Given the description of an element on the screen output the (x, y) to click on. 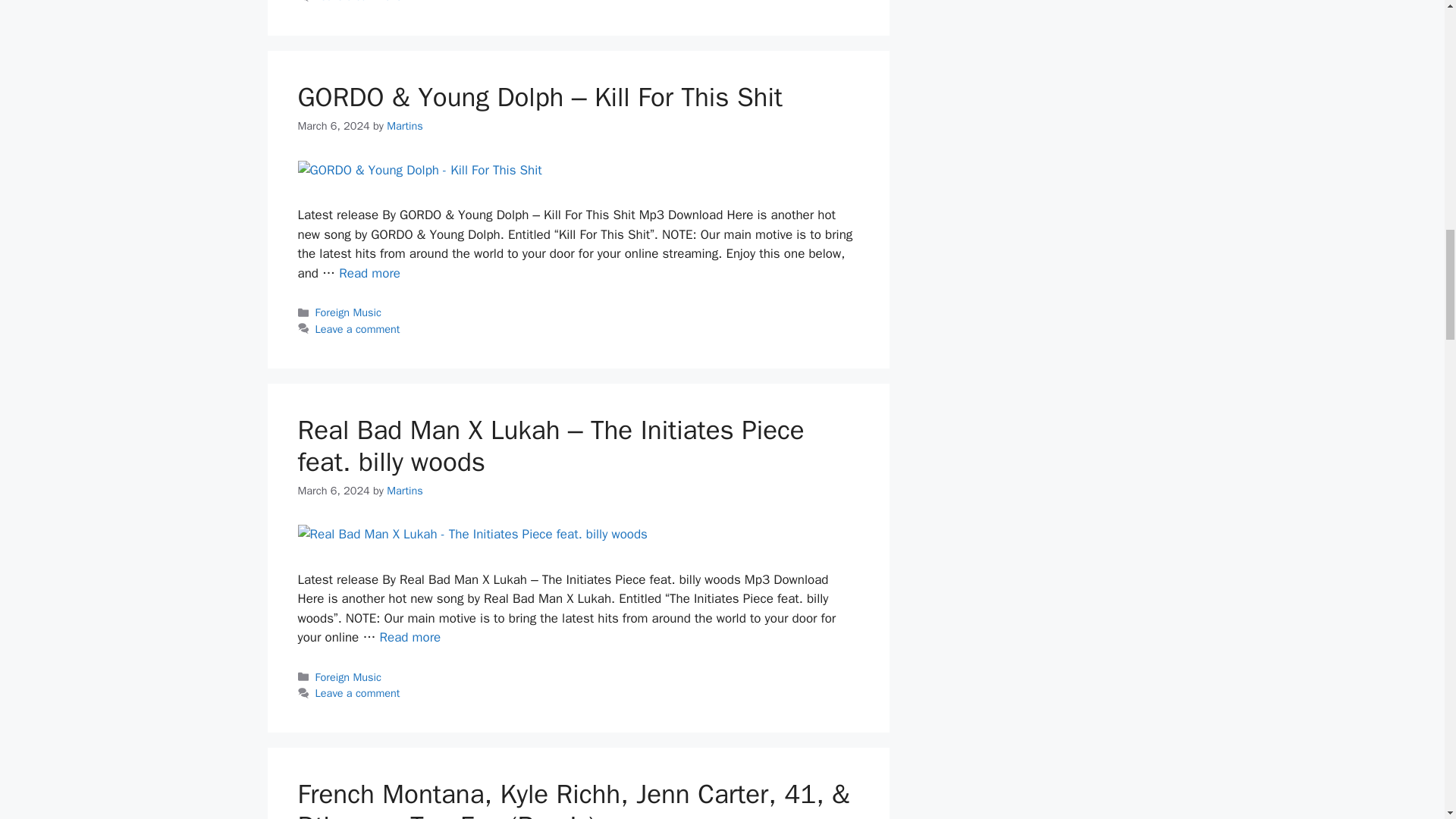
Leave a comment (357, 1)
View all posts by Martins (405, 125)
Read more (369, 273)
Martins (405, 125)
Foreign Music (348, 676)
View all posts by Martins (405, 490)
Read more (409, 637)
Foreign Music (348, 312)
Leave a comment (357, 693)
Leave a comment (357, 328)
